Given the description of an element on the screen output the (x, y) to click on. 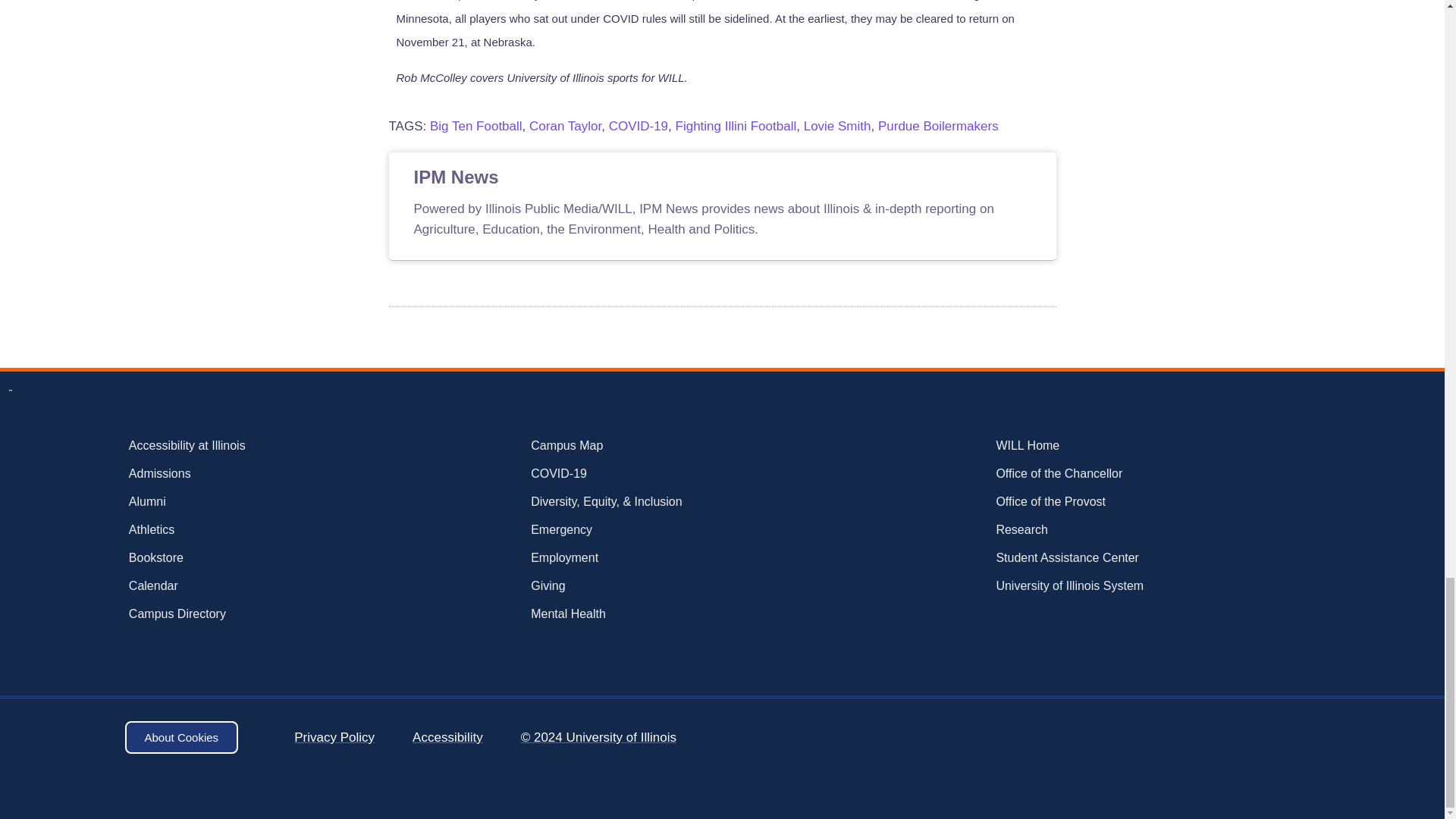
Purdue Boilermakers (937, 125)
Bookstore (235, 557)
Giving (669, 586)
Accessibility at Illinois (235, 445)
Coran Taylor (565, 125)
Calendar (235, 586)
Campus Directory (235, 614)
Lovie Smith (836, 125)
Campus Map (669, 445)
Admissions (235, 474)
